Given the description of an element on the screen output the (x, y) to click on. 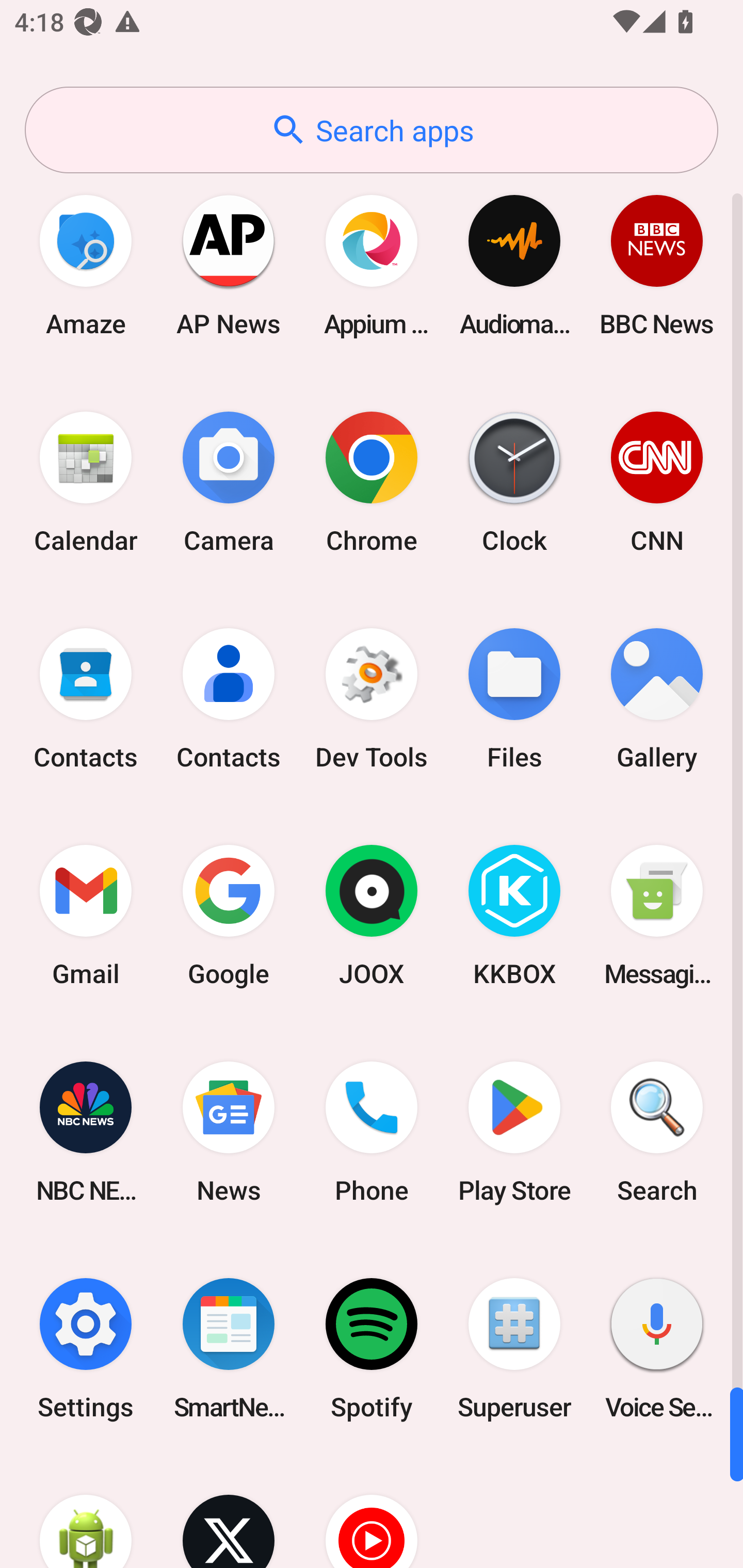
  Search apps (371, 130)
Amaze (85, 264)
AP News (228, 264)
Appium Settings (371, 264)
Audio­mack (514, 264)
BBC News (656, 264)
Calendar (85, 482)
Camera (228, 482)
Chrome (371, 482)
Clock (514, 482)
CNN (656, 482)
Contacts (85, 699)
Contacts (228, 699)
Dev Tools (371, 699)
Files (514, 699)
Gallery (656, 699)
Gmail (85, 915)
Google (228, 915)
JOOX (371, 915)
KKBOX (514, 915)
Messaging (656, 915)
NBC NEWS (85, 1131)
News (228, 1131)
Phone (371, 1131)
Play Store (514, 1131)
Search (656, 1131)
Settings (85, 1348)
SmartNews (228, 1348)
Spotify (371, 1348)
Superuser (514, 1348)
Voice Search (656, 1348)
WebView Browser Tester (85, 1512)
X (228, 1512)
YT Music (371, 1512)
